Given the description of an element on the screen output the (x, y) to click on. 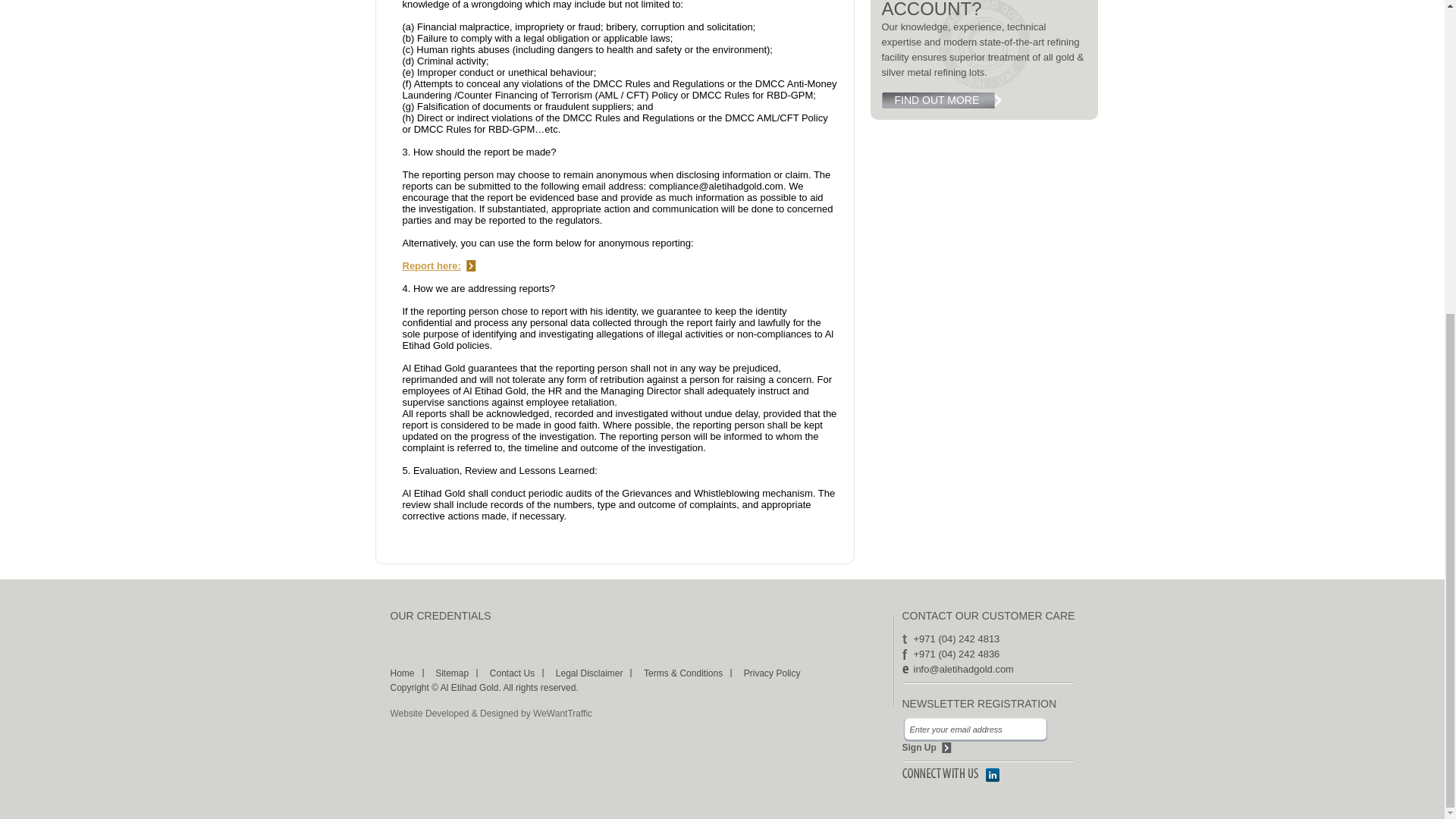
Contact Us (511, 673)
Privacy Policy (772, 673)
Home (401, 673)
Sitemap (451, 673)
Report here: (438, 265)
Legal Disclaimer (589, 673)
FIND OUT MORE (944, 99)
Enter your email address (975, 729)
Sign Up (927, 747)
WeWantTraffic (562, 713)
